Given the description of an element on the screen output the (x, y) to click on. 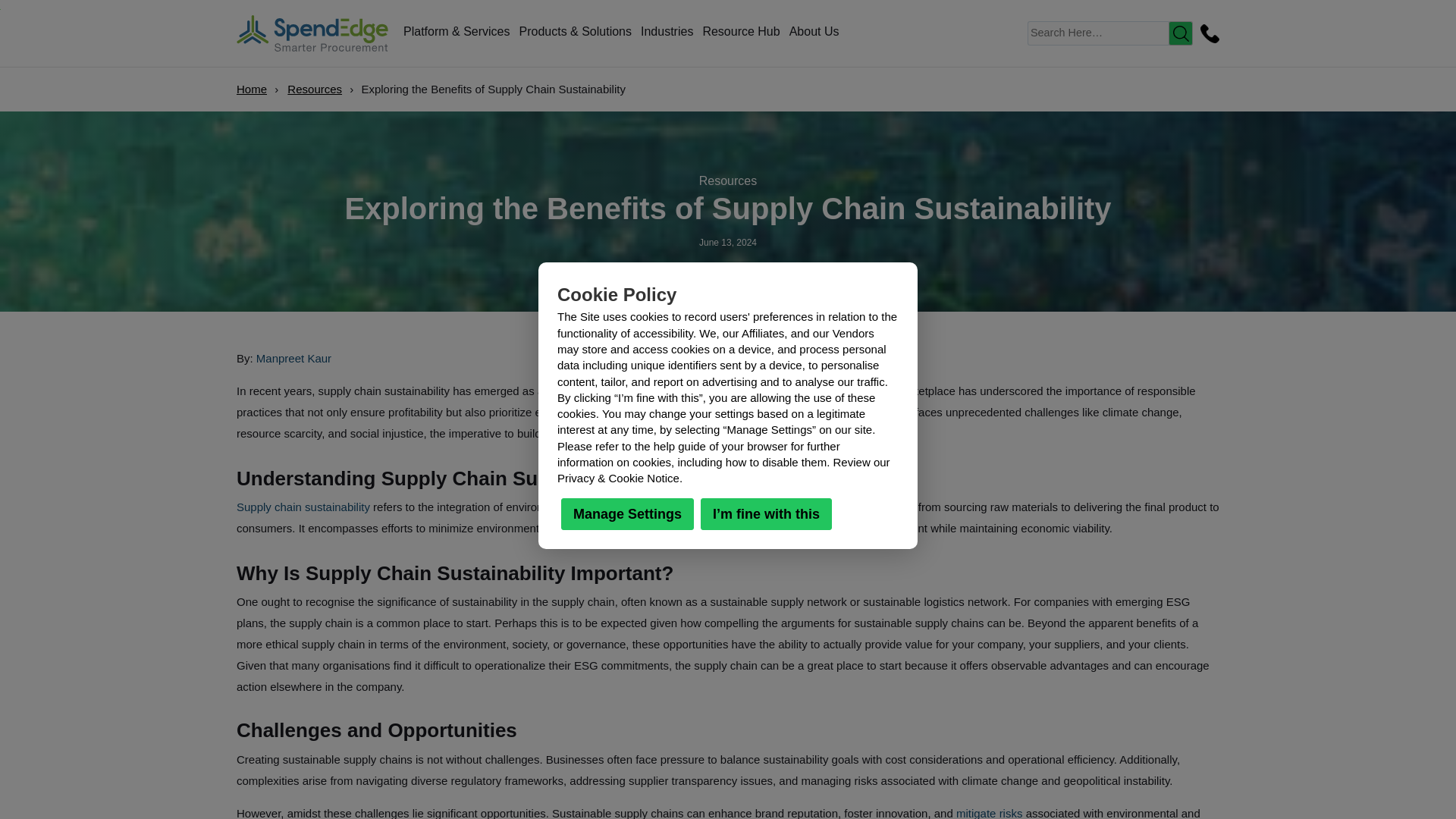
Contact Us (1206, 32)
Search (1180, 33)
Search (1180, 33)
